Given the description of an element on the screen output the (x, y) to click on. 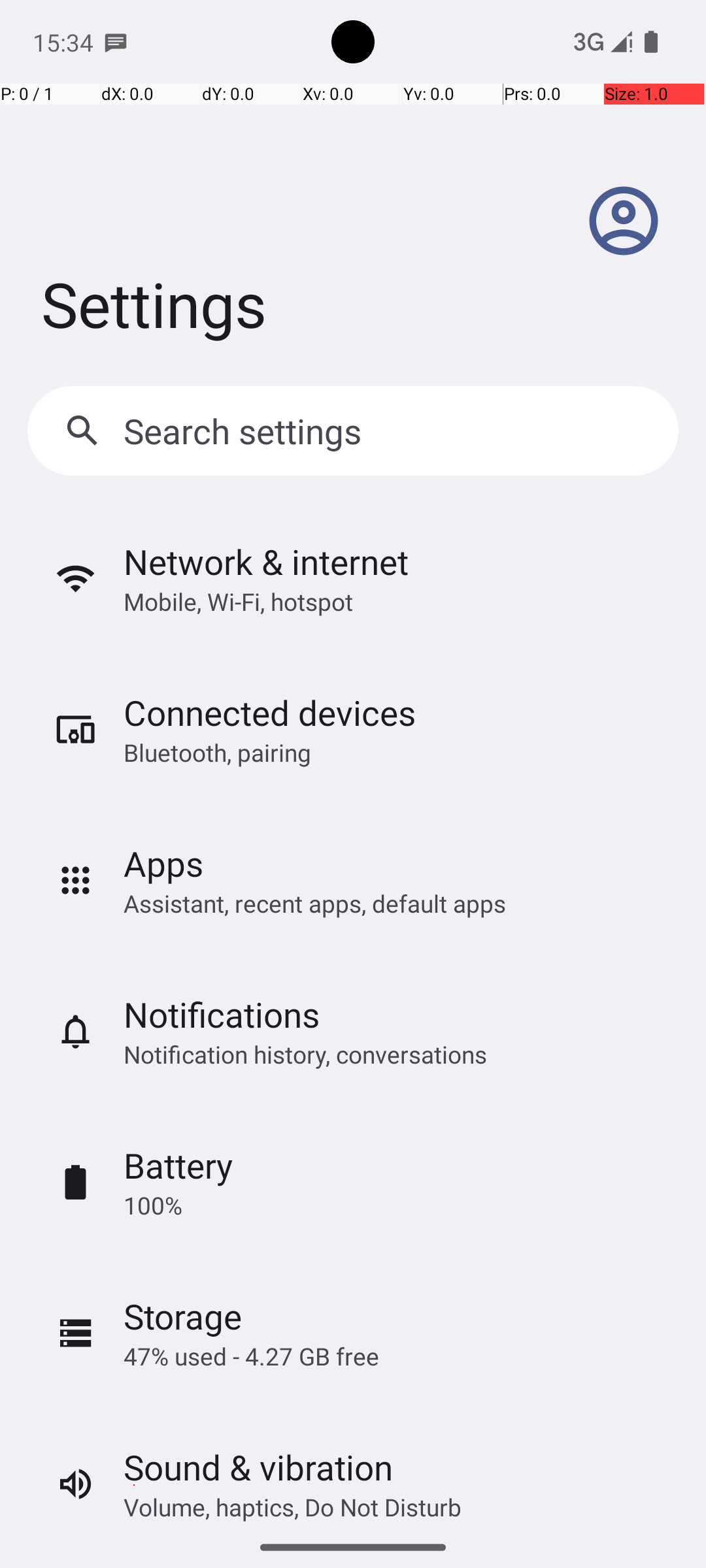
47% used - 4.27 GB free Element type: android.widget.TextView (251, 1355)
